Given the description of an element on the screen output the (x, y) to click on. 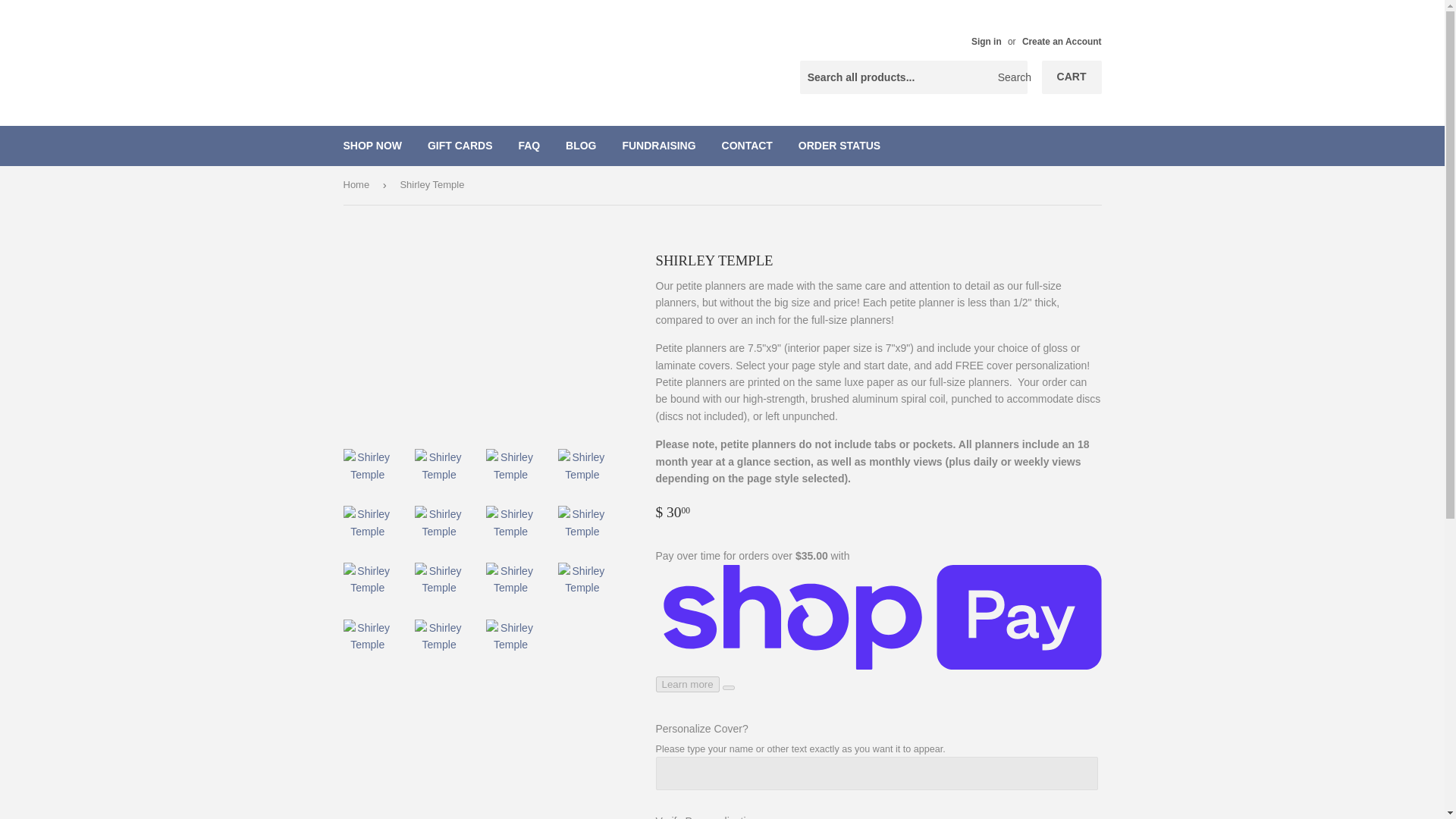
ORDER STATUS (839, 145)
SHOP NOW (372, 145)
BLOG (580, 145)
CART (1072, 77)
Sign in (986, 41)
CONTACT (747, 145)
GIFT CARDS (459, 145)
Create an Account (1062, 41)
Search (1009, 78)
FAQ (528, 145)
FUNDRAISING (658, 145)
